Given the description of an element on the screen output the (x, y) to click on. 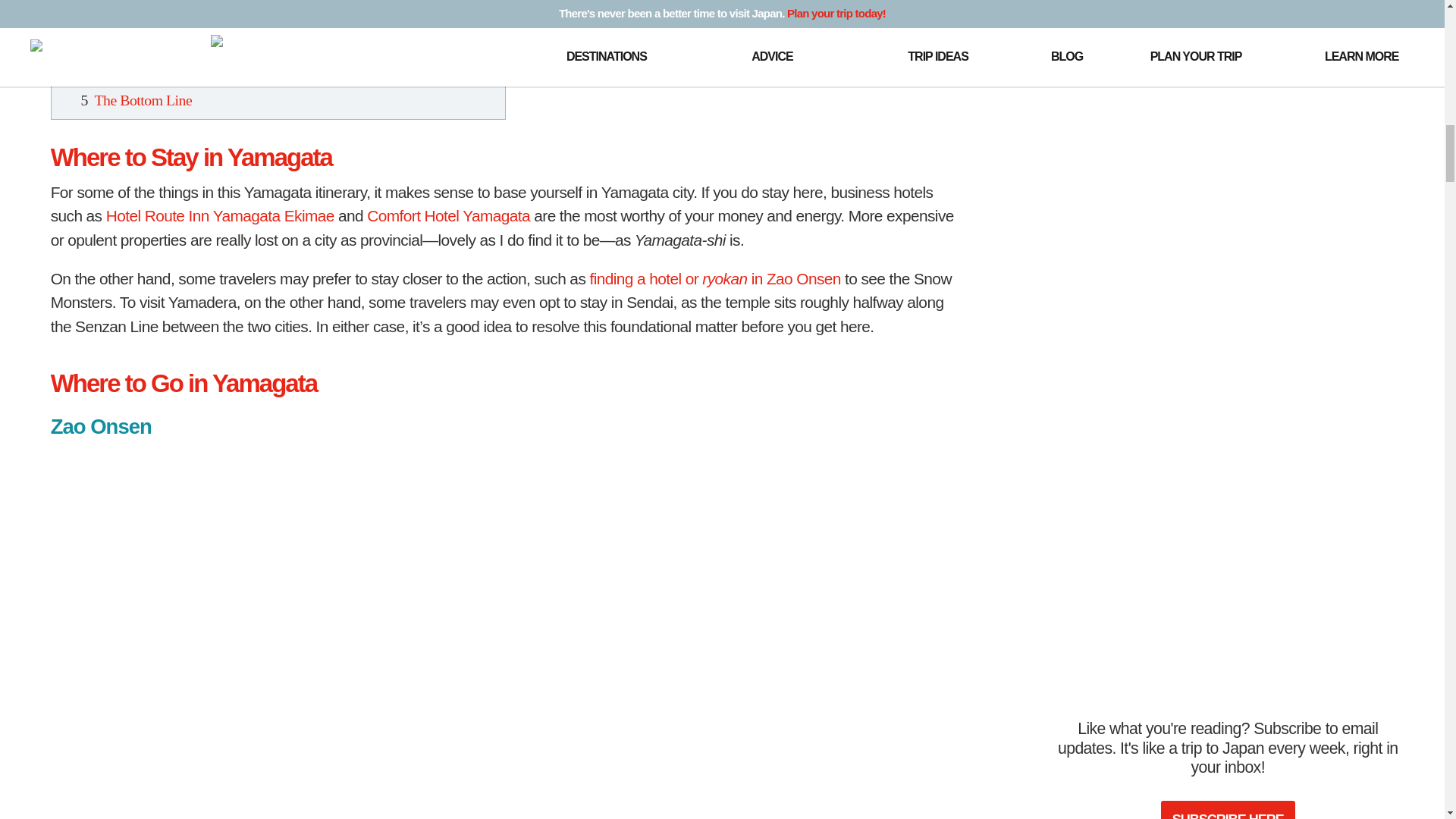
What does Yamagata mean in Japanese? (252, 74)
What food is Yamagata known for? (237, 49)
Other FAQ About Travel in Yamagata (201, 4)
What is Yamagata known for? (223, 24)
The Bottom Line (143, 99)
Hotel Route Inn Yamagata Ekimae (220, 215)
Comfort Hotel Yamagata (447, 215)
